Given the description of an element on the screen output the (x, y) to click on. 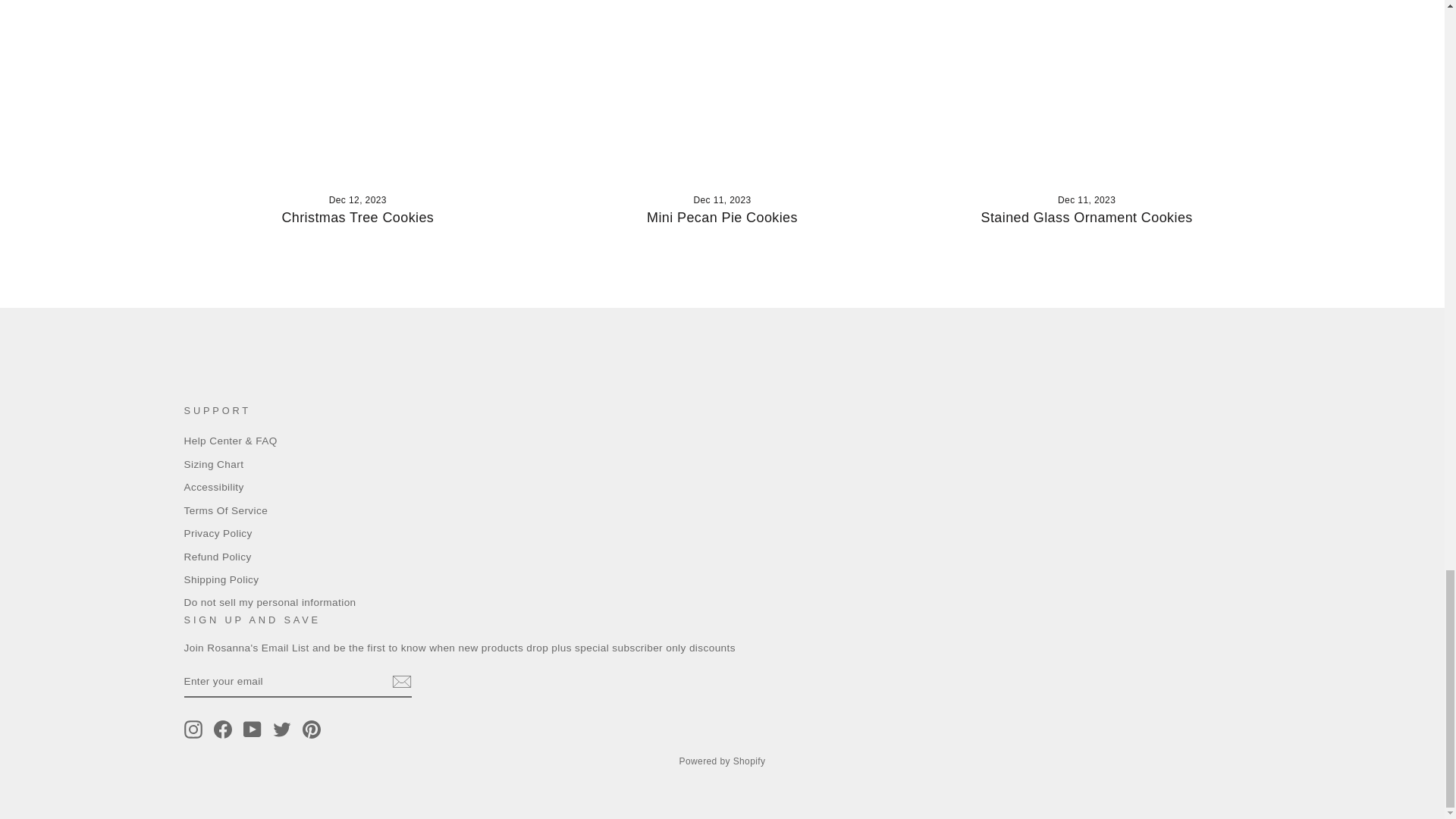
icon-email (400, 681)
Rosanna Pansino on Instagram (192, 729)
Rosanna Pansino on Facebook (222, 729)
instagram (192, 729)
Rosanna Pansino on Pinterest (310, 729)
Rosanna Pansino on Twitter (282, 729)
Rosanna Pansino on YouTube (251, 729)
twitter (282, 729)
